Given the description of an element on the screen output the (x, y) to click on. 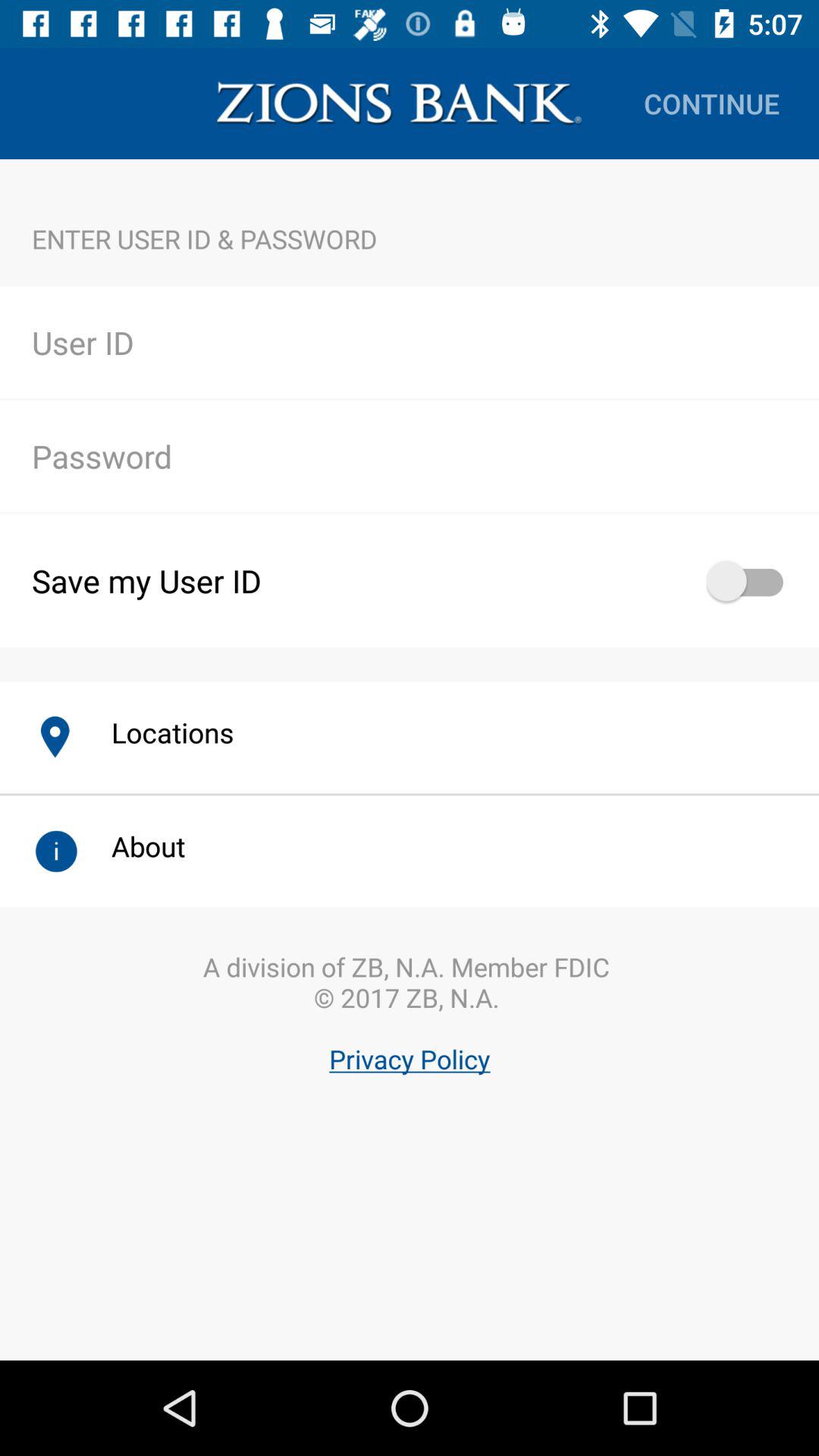
scroll until a division of icon (409, 1053)
